Given the description of an element on the screen output the (x, y) to click on. 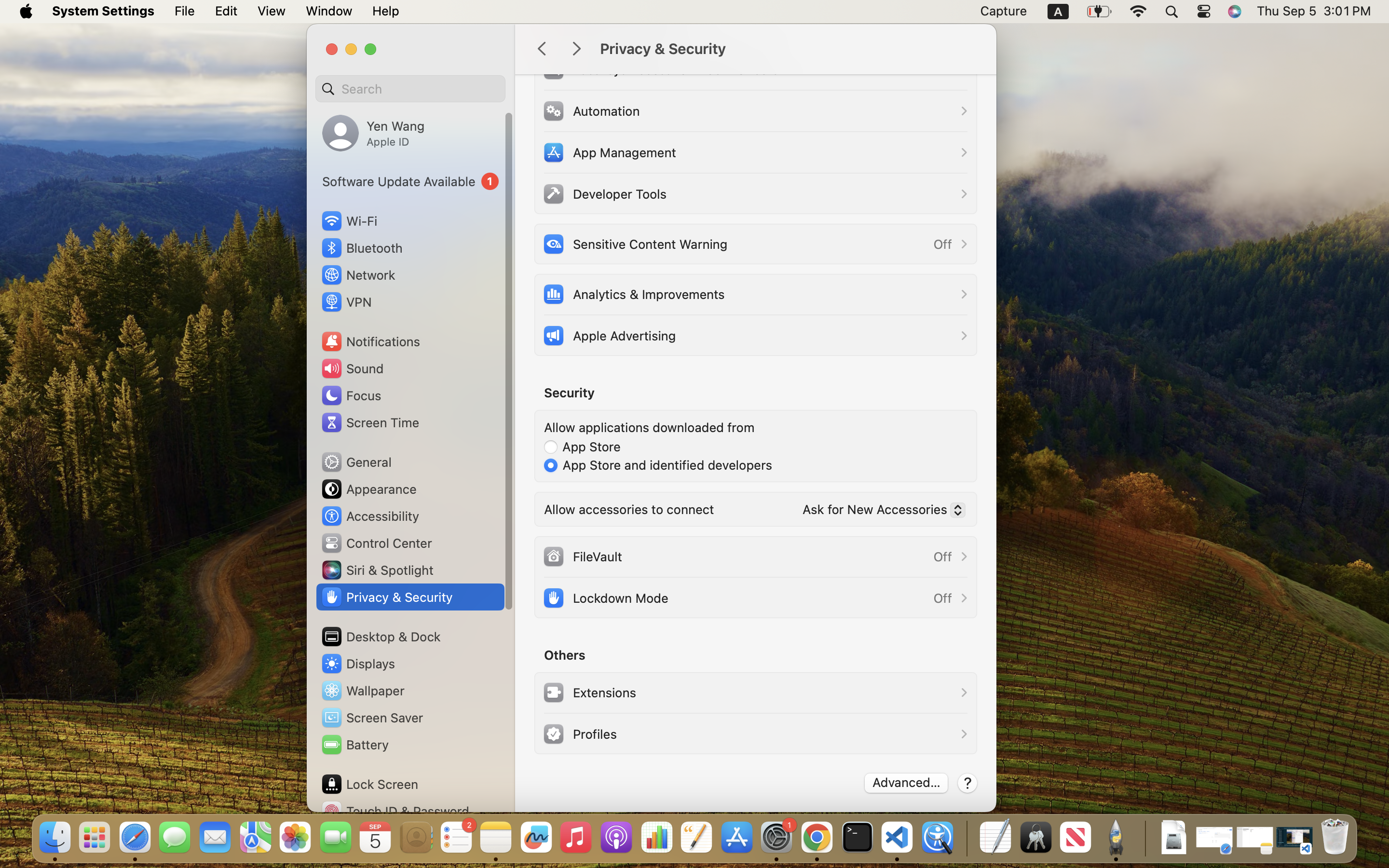
Yen Wang, Apple ID Element type: AXStaticText (373, 132)
VPN Element type: AXStaticText (345, 301)
Sound Element type: AXStaticText (351, 367)
Wi‑Fi Element type: AXStaticText (348, 220)
Wallpaper Element type: AXStaticText (362, 690)
